Given the description of an element on the screen output the (x, y) to click on. 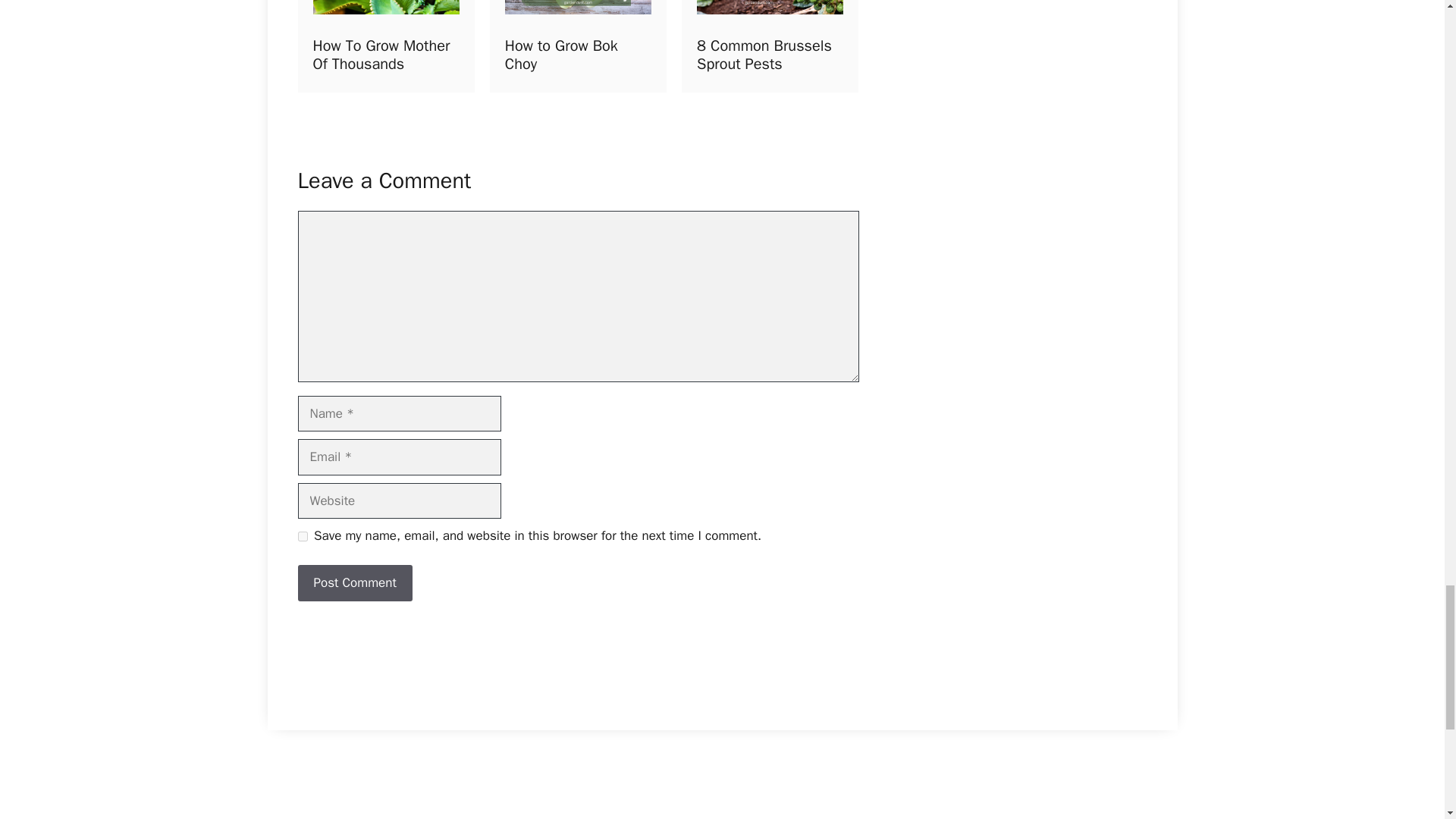
8 Common Brussels Sprout Pests (762, 46)
yes (302, 536)
How to Grow Bok Choy (570, 46)
Post Comment (354, 583)
Post Comment (354, 583)
How To Grow Mother Of Thousands (381, 54)
How to Grow Bok Choy (561, 54)
8 Common Brussels Sprout Pests (764, 54)
How To Grow Mother Of Thousands (378, 46)
